Given the description of an element on the screen output the (x, y) to click on. 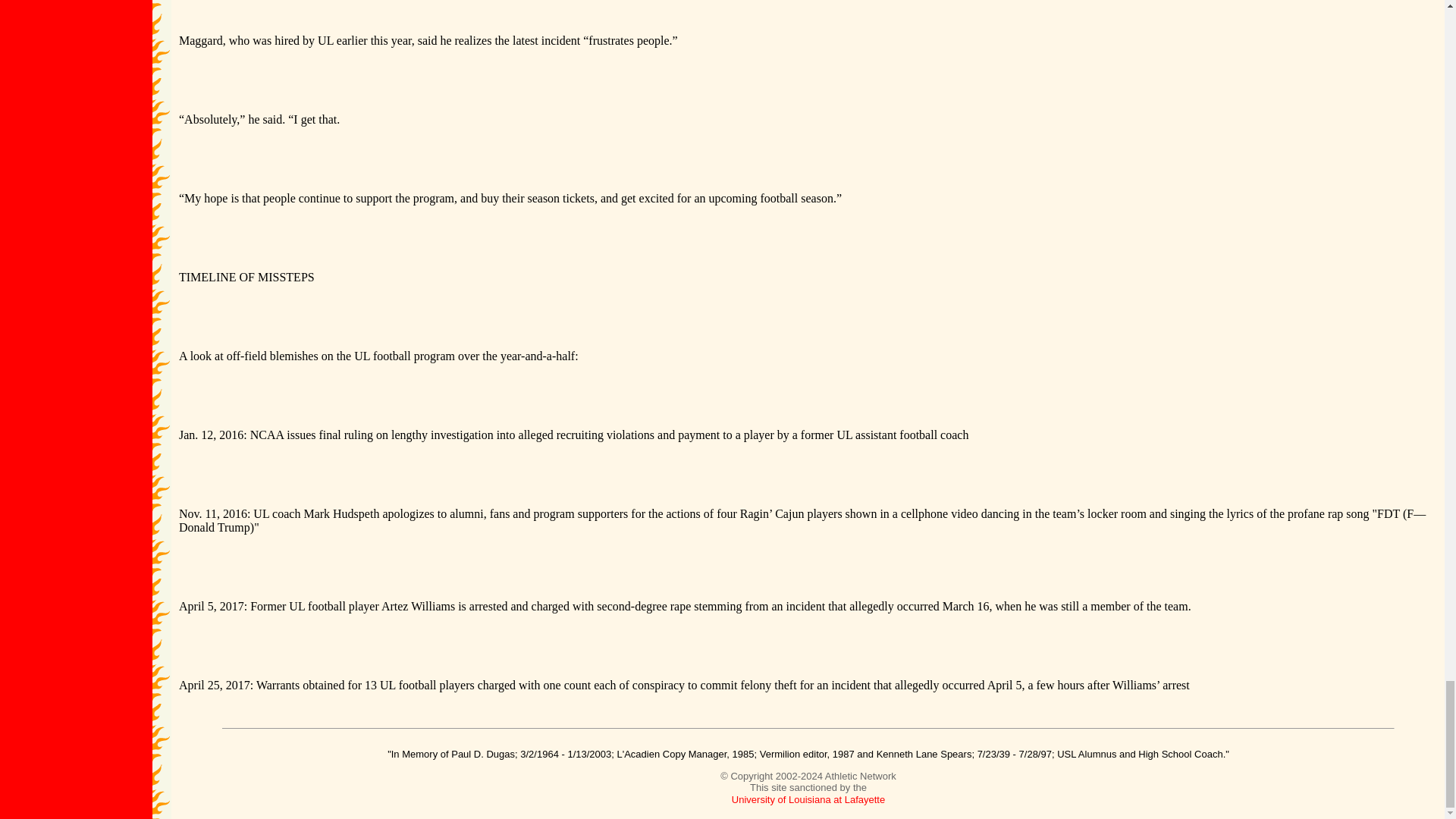
University of Louisiana at Lafayette (808, 799)
